Given the description of an element on the screen output the (x, y) to click on. 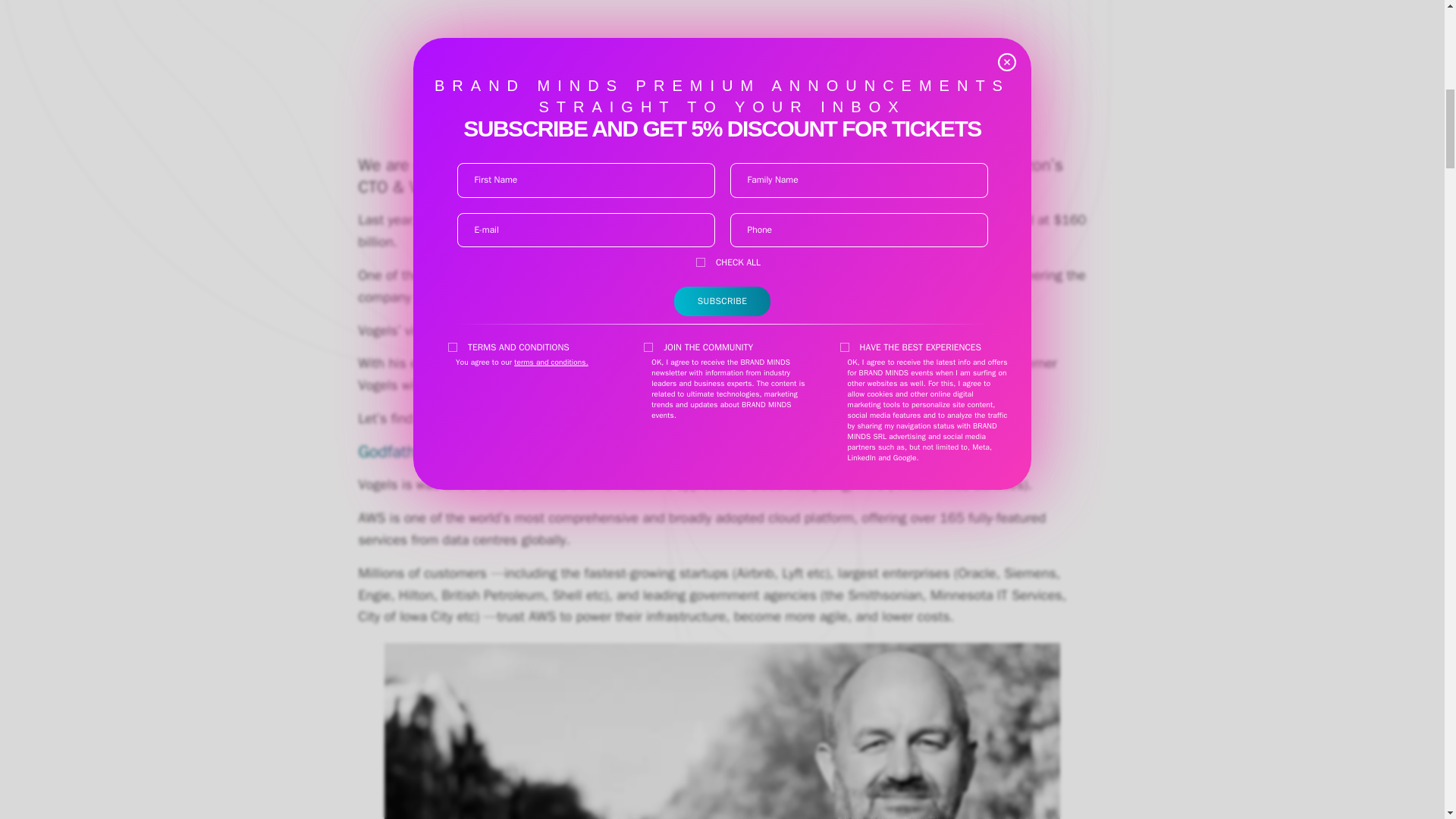
BRAND MINDS 2020 (858, 165)
